Given the description of an element on the screen output the (x, y) to click on. 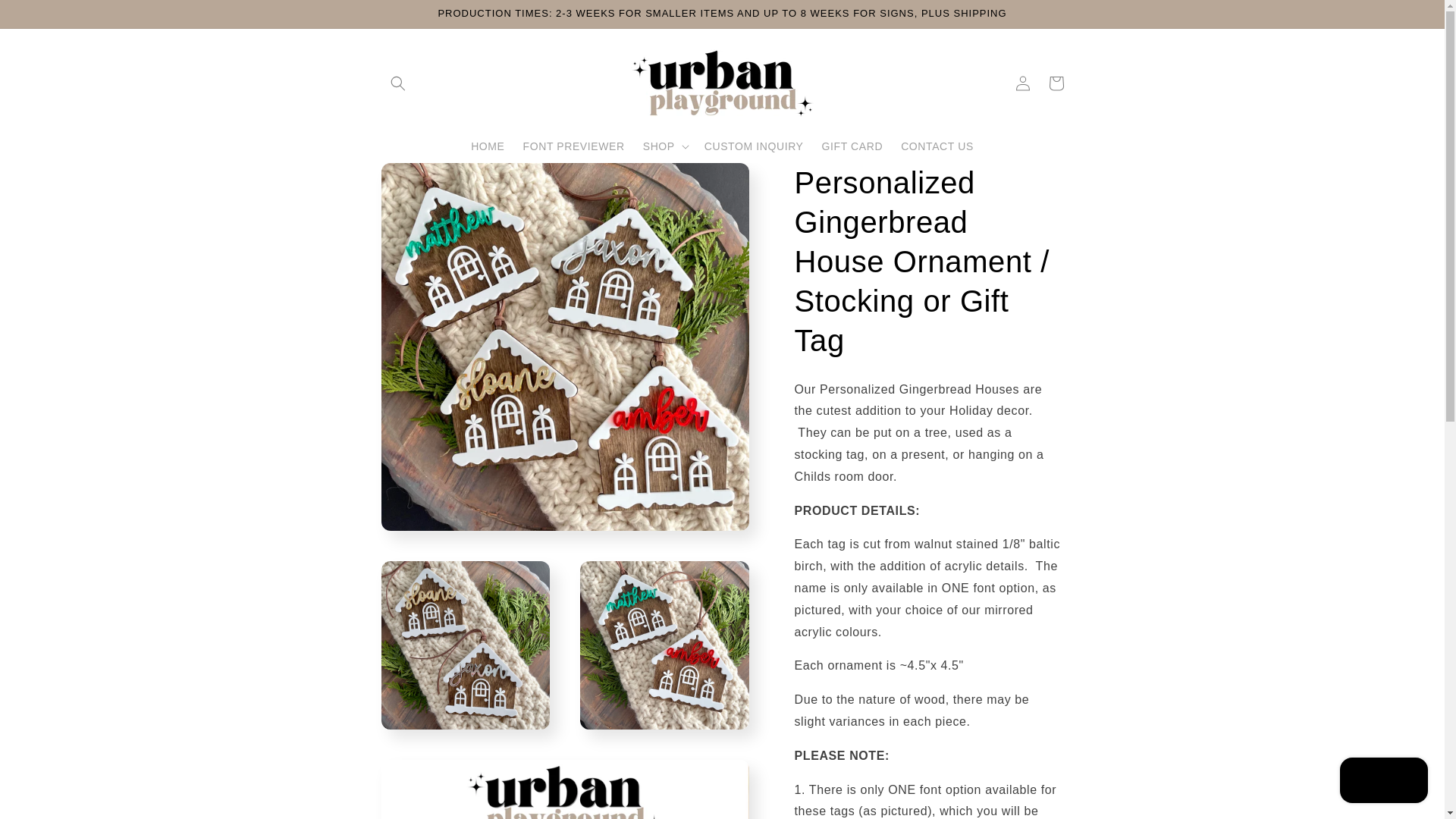
HOME (487, 146)
Shopify online store chat (1383, 781)
FONT PREVIEWER (573, 146)
Skip to content (45, 17)
